Given the description of an element on the screen output the (x, y) to click on. 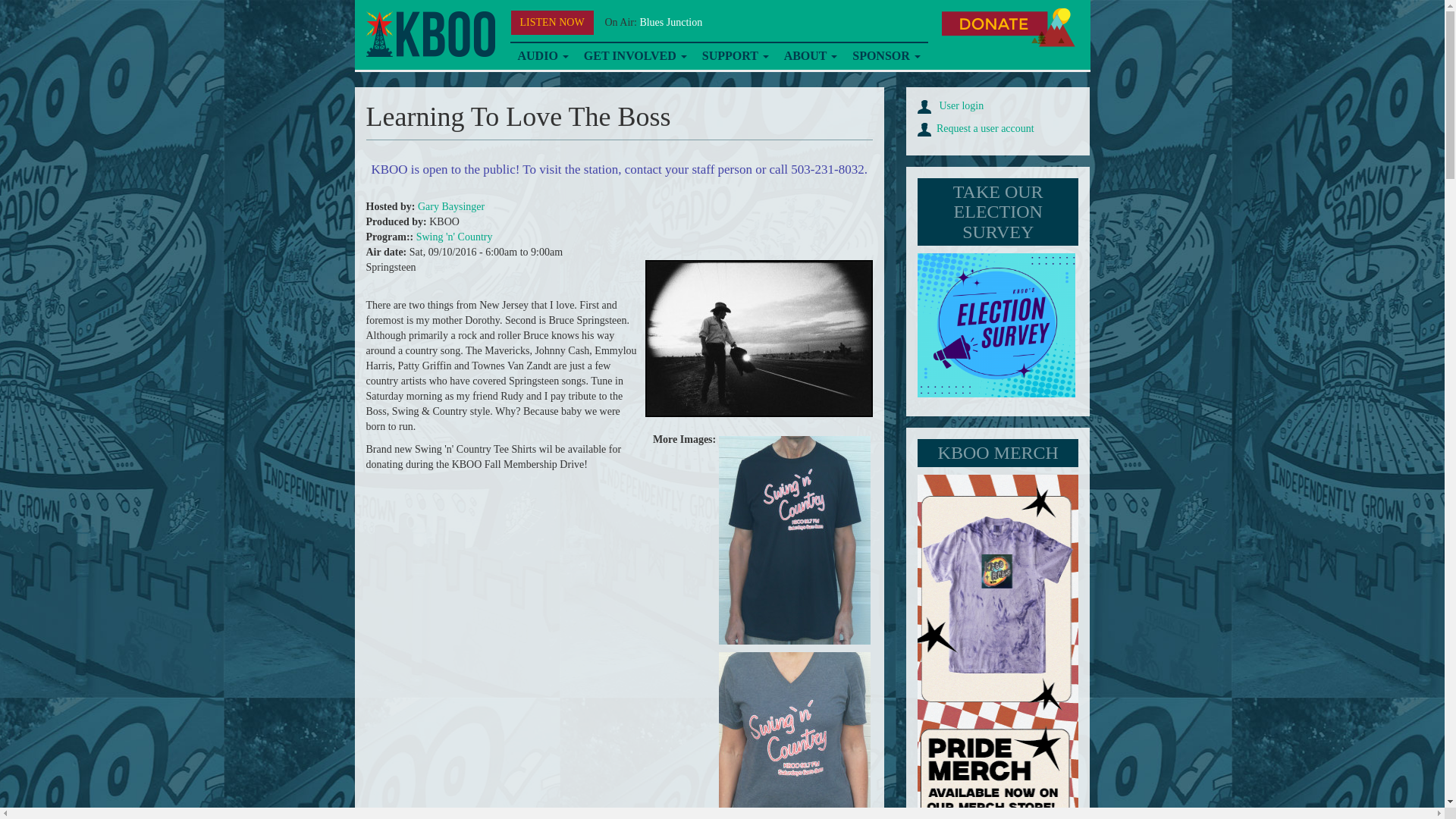
Blues Junction (670, 21)
GET INVOLVED (635, 55)
Home (430, 34)
SUPPORT (735, 55)
AUDIO (542, 55)
ABOUT (810, 55)
LISTEN NOW (551, 22)
